Given the description of an element on the screen output the (x, y) to click on. 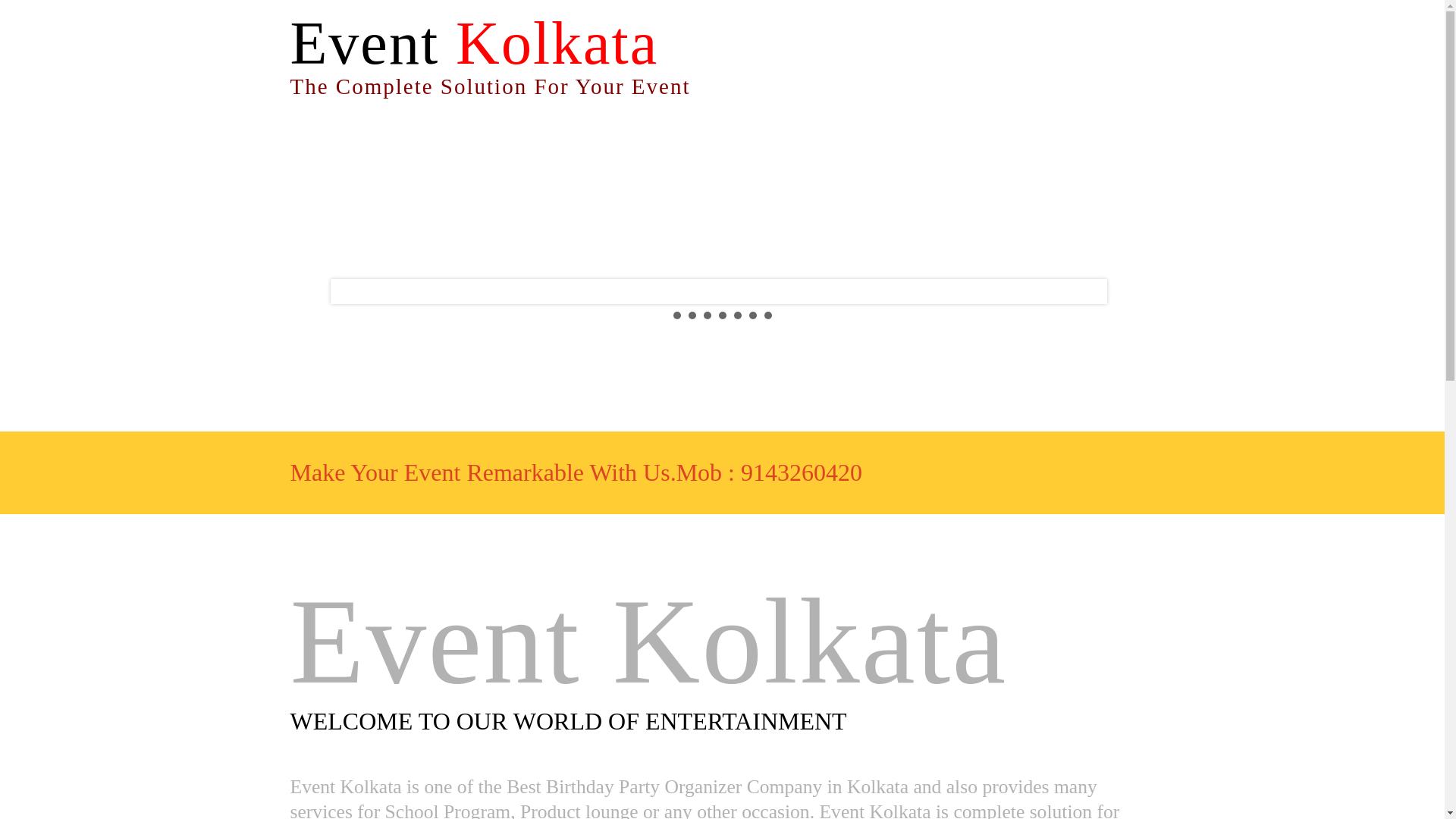
7 (767, 315)
The Complete Solution For Your Event (489, 86)
Mob : 9143260420 (769, 472)
Home (446, 150)
1 (676, 315)
Services (618, 150)
6 (753, 315)
Contact (722, 203)
Click Here For Online Party Celebration (442, 114)
2 (691, 315)
Review (984, 150)
Gallery (806, 150)
Event Kolkata (473, 42)
4 (722, 315)
5 (737, 315)
